Given the description of an element on the screen output the (x, y) to click on. 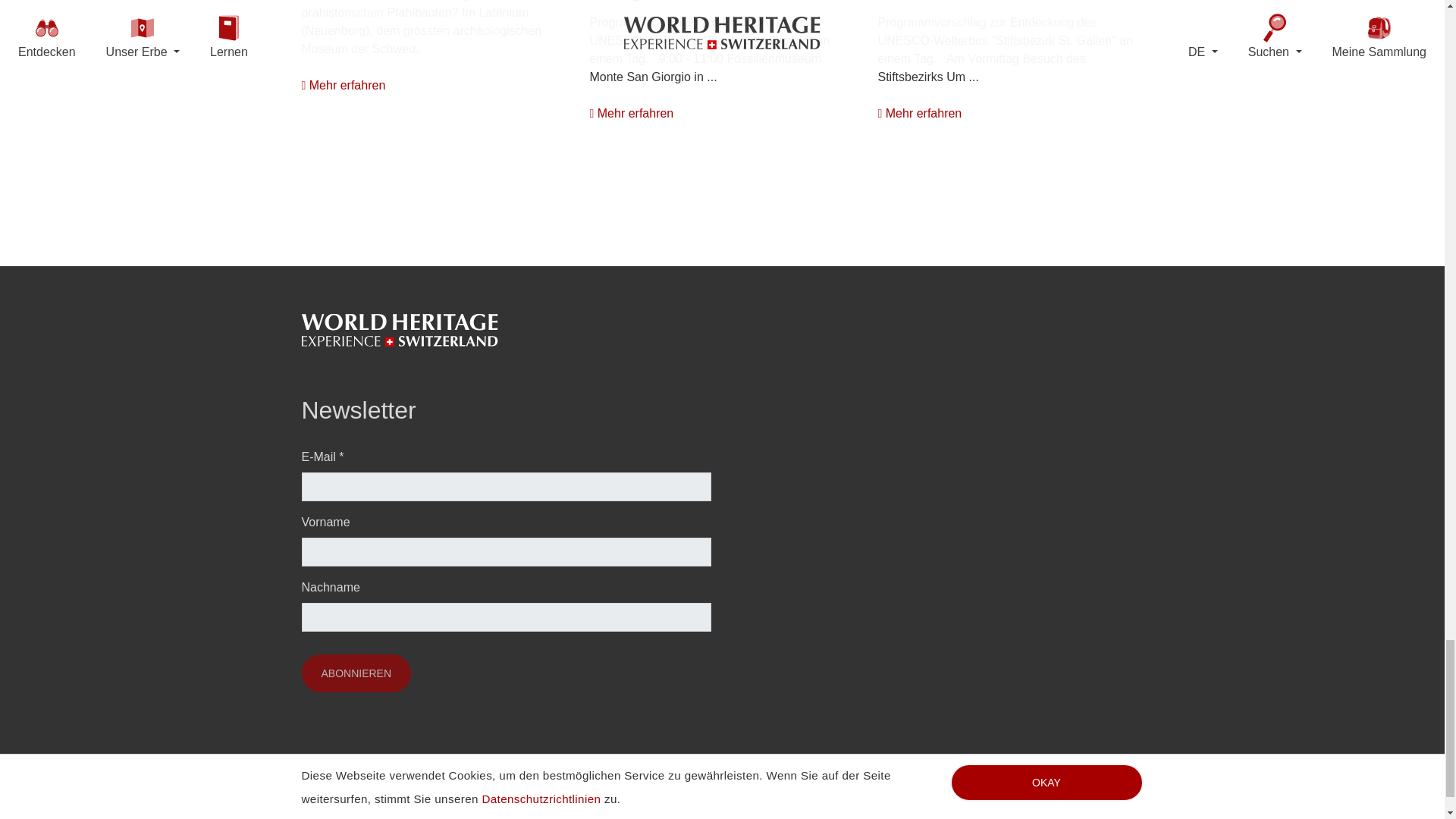
Abonnieren (356, 673)
